Given the description of an element on the screen output the (x, y) to click on. 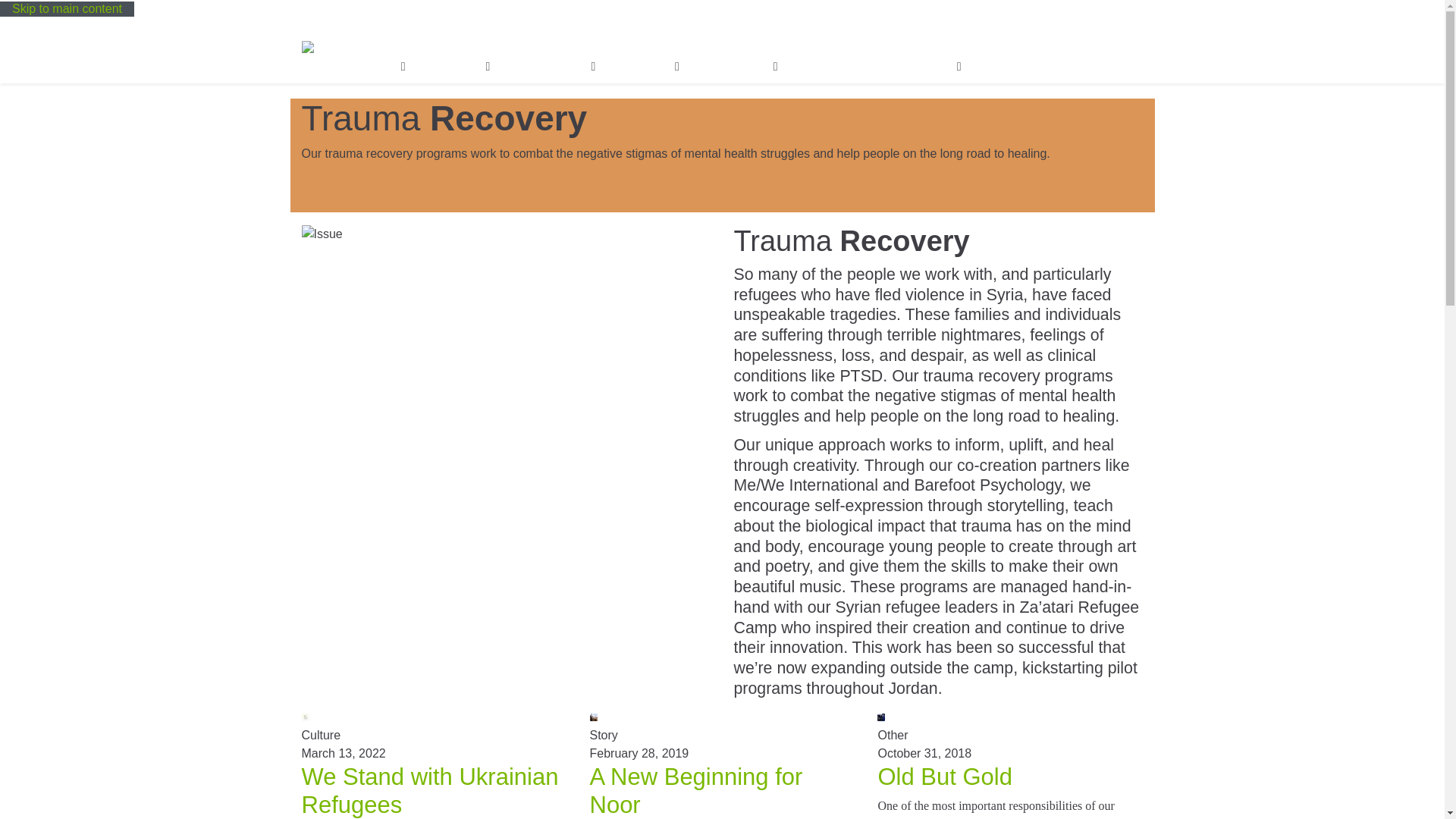
WHERE WE WORK (535, 41)
A New Beginning for Noor (696, 790)
We Stand with Ukrainian Refugees (430, 790)
WHO WE ARE (441, 41)
SEARCH (866, 41)
QUICK LINKS (995, 41)
JOIN US! (802, 41)
Old But Gold (944, 776)
DONATE (925, 41)
Skip to main content (66, 8)
